Given the description of an element on the screen output the (x, y) to click on. 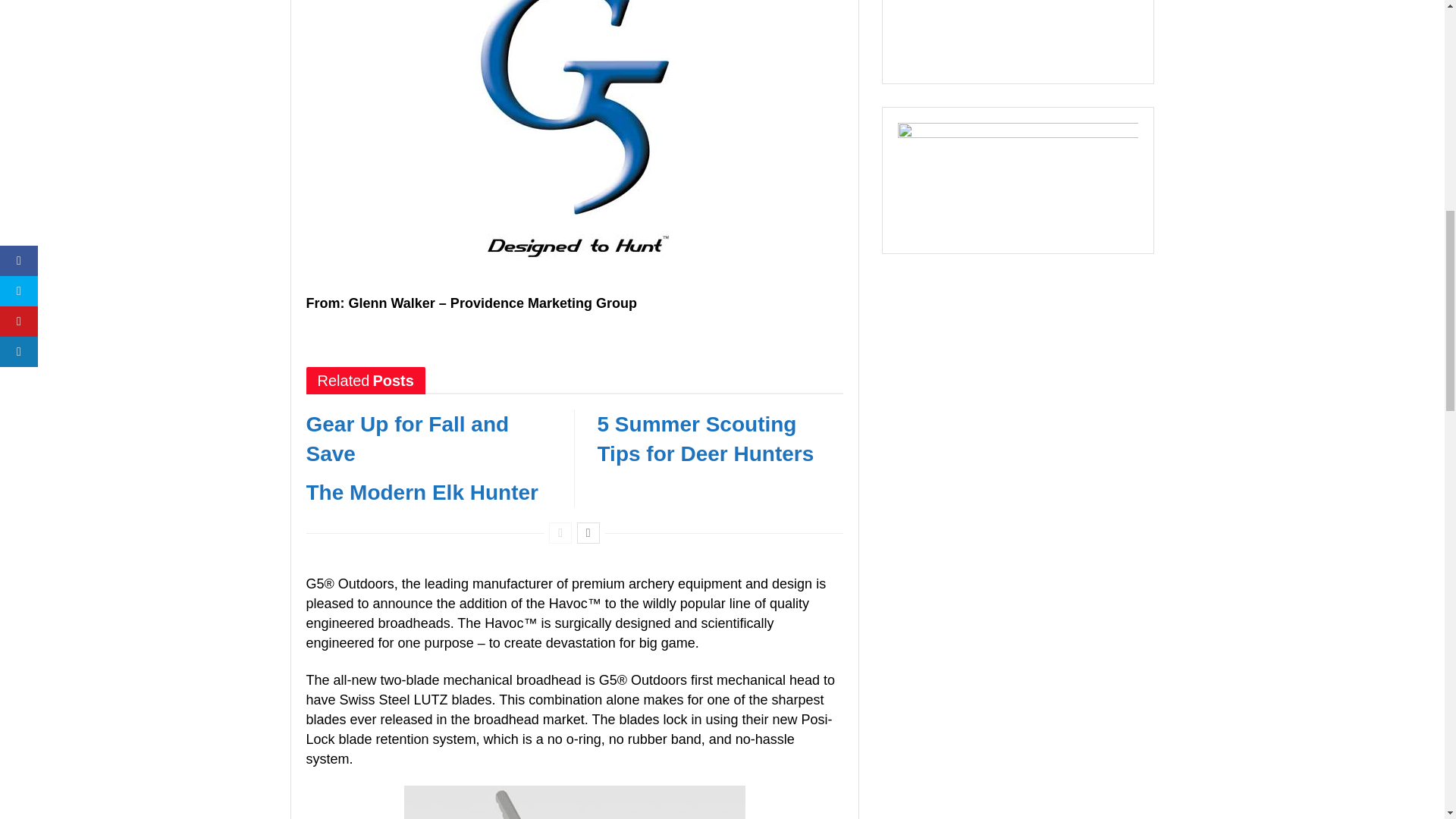
Previous (560, 532)
Next (587, 532)
